Given the description of an element on the screen output the (x, y) to click on. 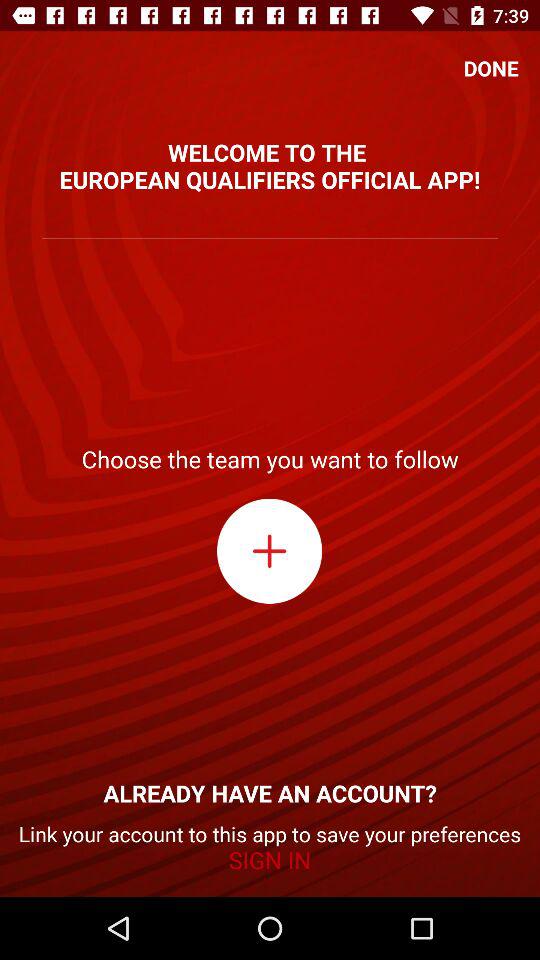
open the link your account icon (269, 847)
